Given the description of an element on the screen output the (x, y) to click on. 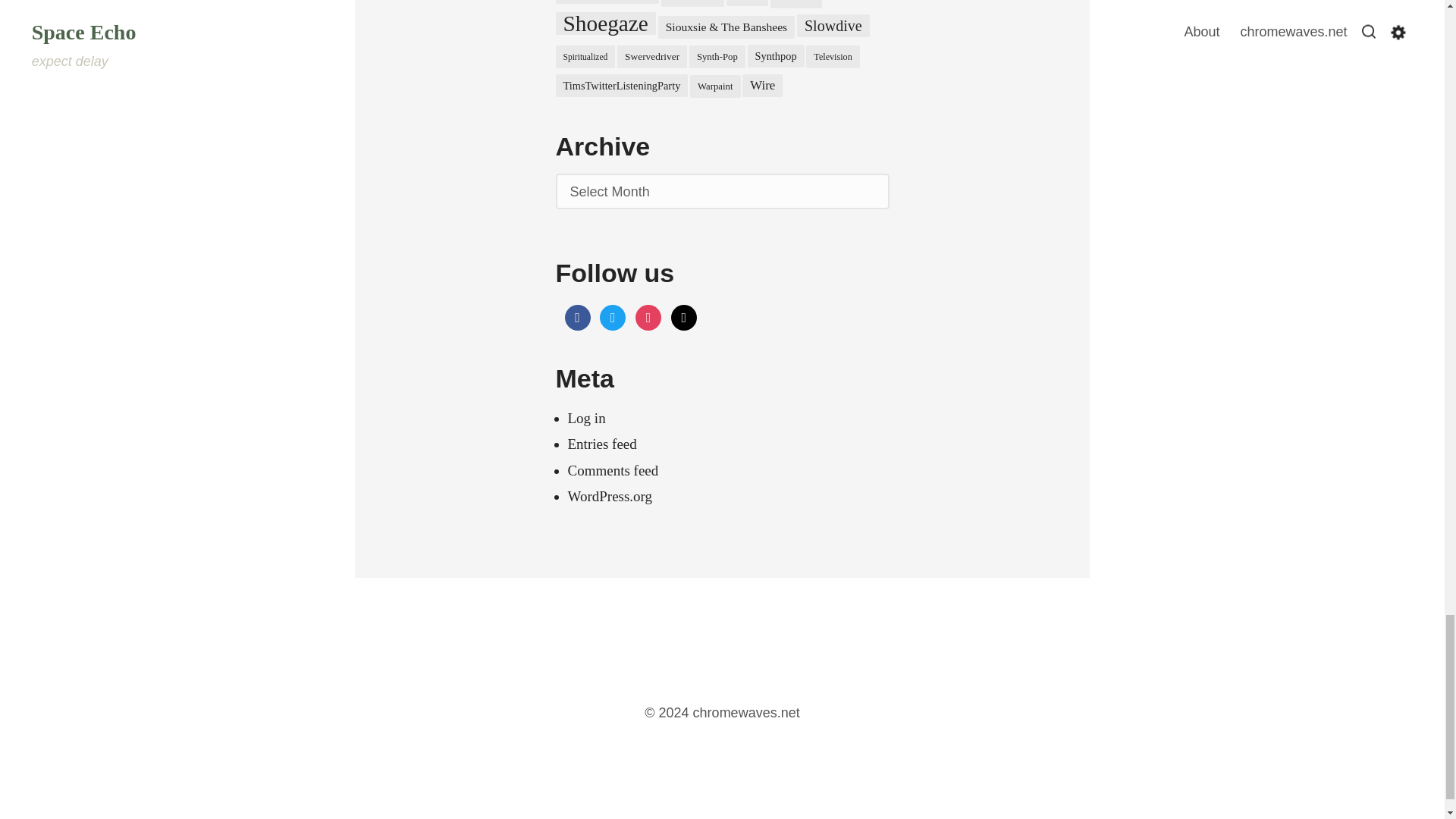
Facebook (576, 315)
Default Label (684, 315)
Instagram (647, 315)
Twitter (612, 315)
